Given the description of an element on the screen output the (x, y) to click on. 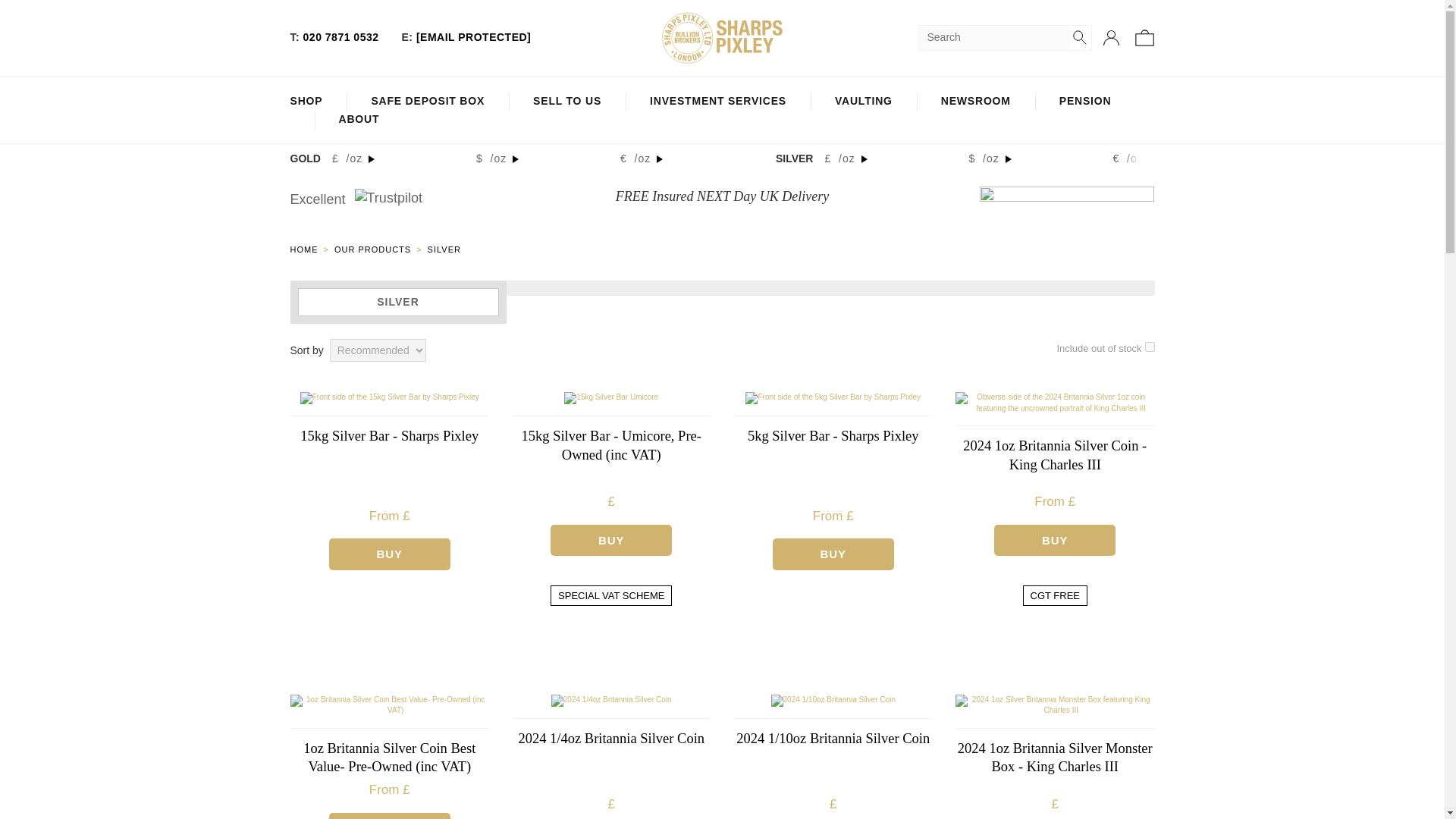
020 7871 0532 (340, 37)
Investment Services (717, 101)
SHOP (305, 101)
Buy gold oline (305, 101)
Sharps Pixley - Buy Gold online (722, 37)
Pension (1085, 101)
Sell to us (566, 101)
on (1149, 347)
Vaulting (863, 101)
Safe Deposit Boxes in London (427, 101)
Newsroom (975, 101)
4.8 out of five star rating on Trustpilot (425, 199)
About (357, 119)
